Given the description of an element on the screen output the (x, y) to click on. 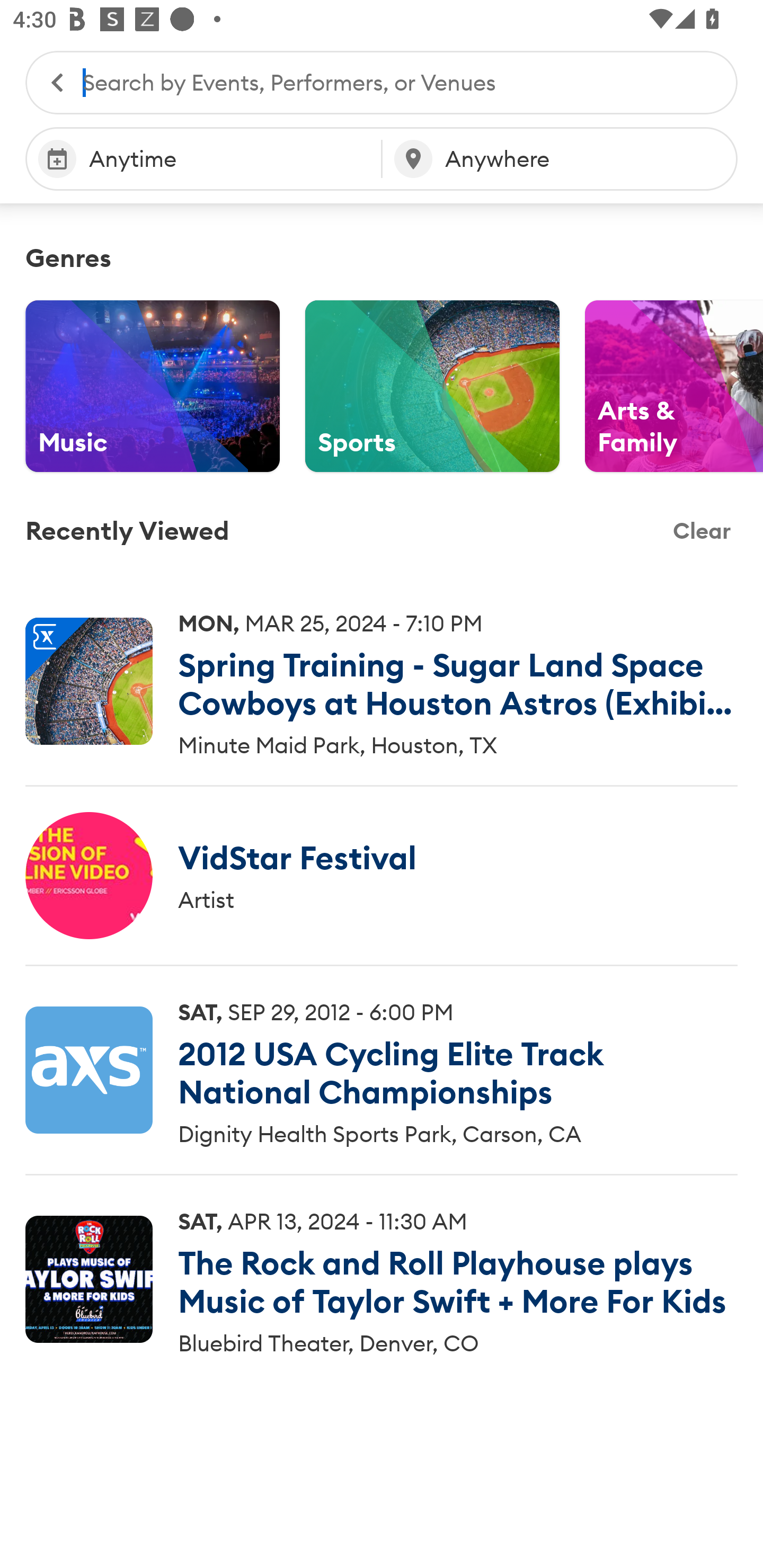
BackButton (47, 81)
Anytime (203, 158)
Anywhere (559, 158)
Music (152, 386)
Sports (432, 386)
Arts & Family (674, 386)
Clear (701, 531)
VidStar Festival Artist (381, 875)
